Given the description of an element on the screen output the (x, y) to click on. 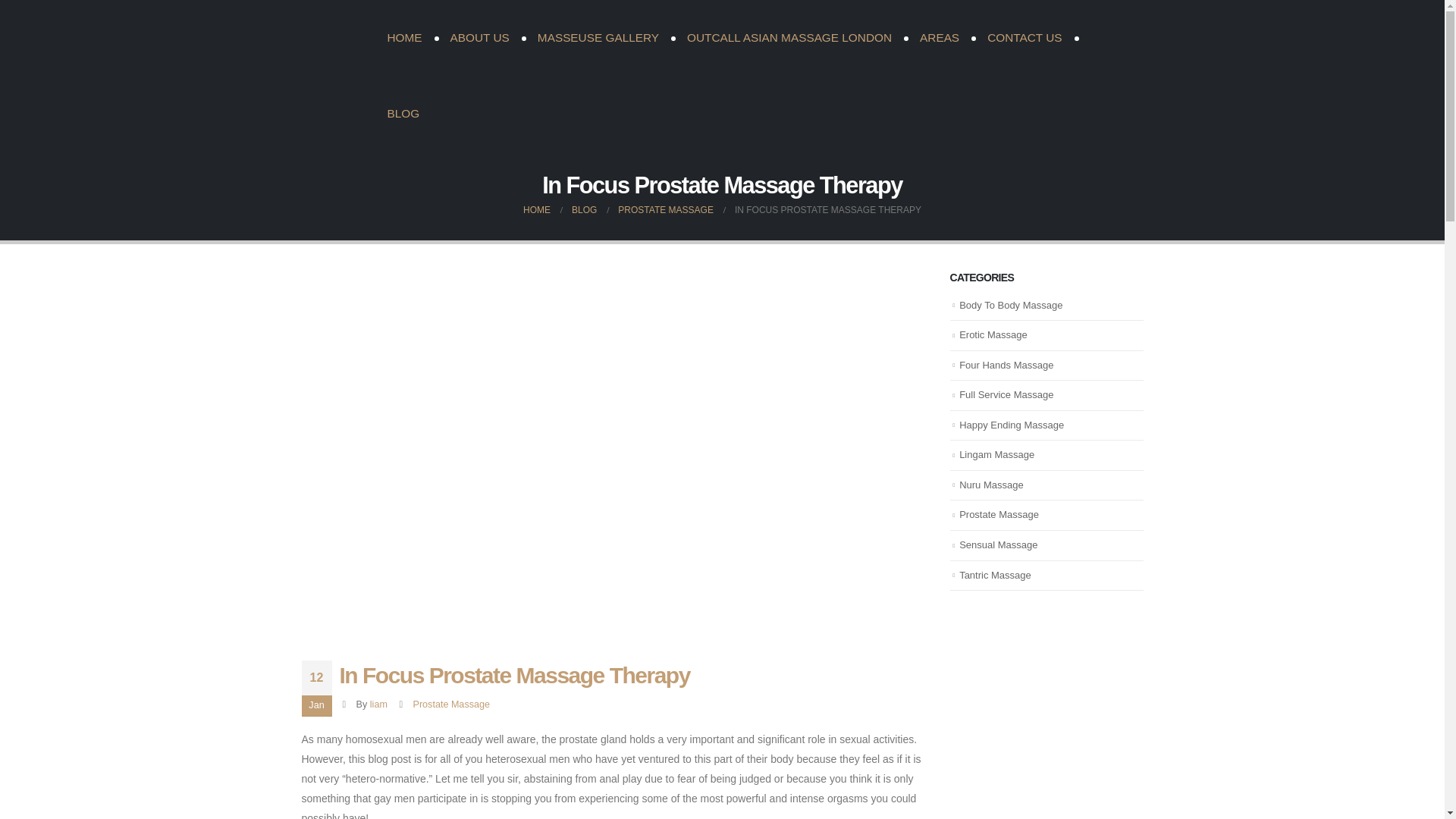
OUTCALL ASIAN MASSAGE LONDON (788, 38)
ABOUT US (479, 38)
MASSEUSE GALLERY (598, 38)
Go to Home Page (536, 209)
Posts by liam (378, 704)
VIP Outcall Massage London - My WordPress Blog (331, 76)
